Given the description of an element on the screen output the (x, y) to click on. 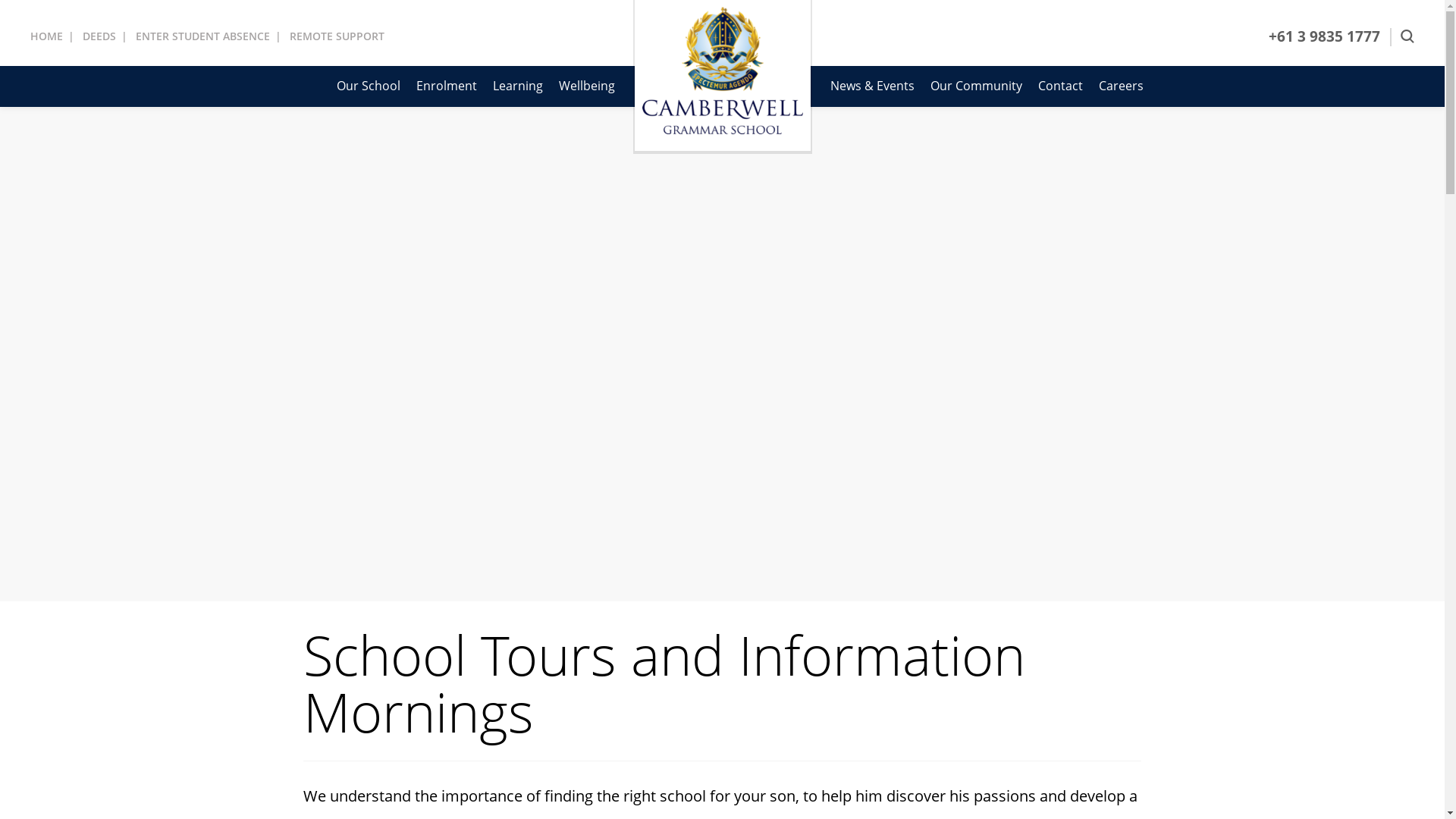
News & Events Element type: text (871, 85)
Our Community Element type: text (975, 85)
REMOTE SUPPORT Element type: text (336, 36)
+61 3 9835 1777 Element type: text (1324, 37)
Wellbeing Element type: text (586, 85)
Contact Element type: text (1059, 85)
ENTER STUDENT ABSENCE Element type: text (202, 36)
DEEDS Element type: text (99, 36)
Search the Camberwell Grammar School website Element type: hover (1407, 36)
Enrolment Element type: text (445, 85)
Our School Element type: text (368, 85)
HOME Element type: text (46, 36)
Learning Element type: text (517, 85)
Careers Element type: text (1120, 85)
